Given the description of an element on the screen output the (x, y) to click on. 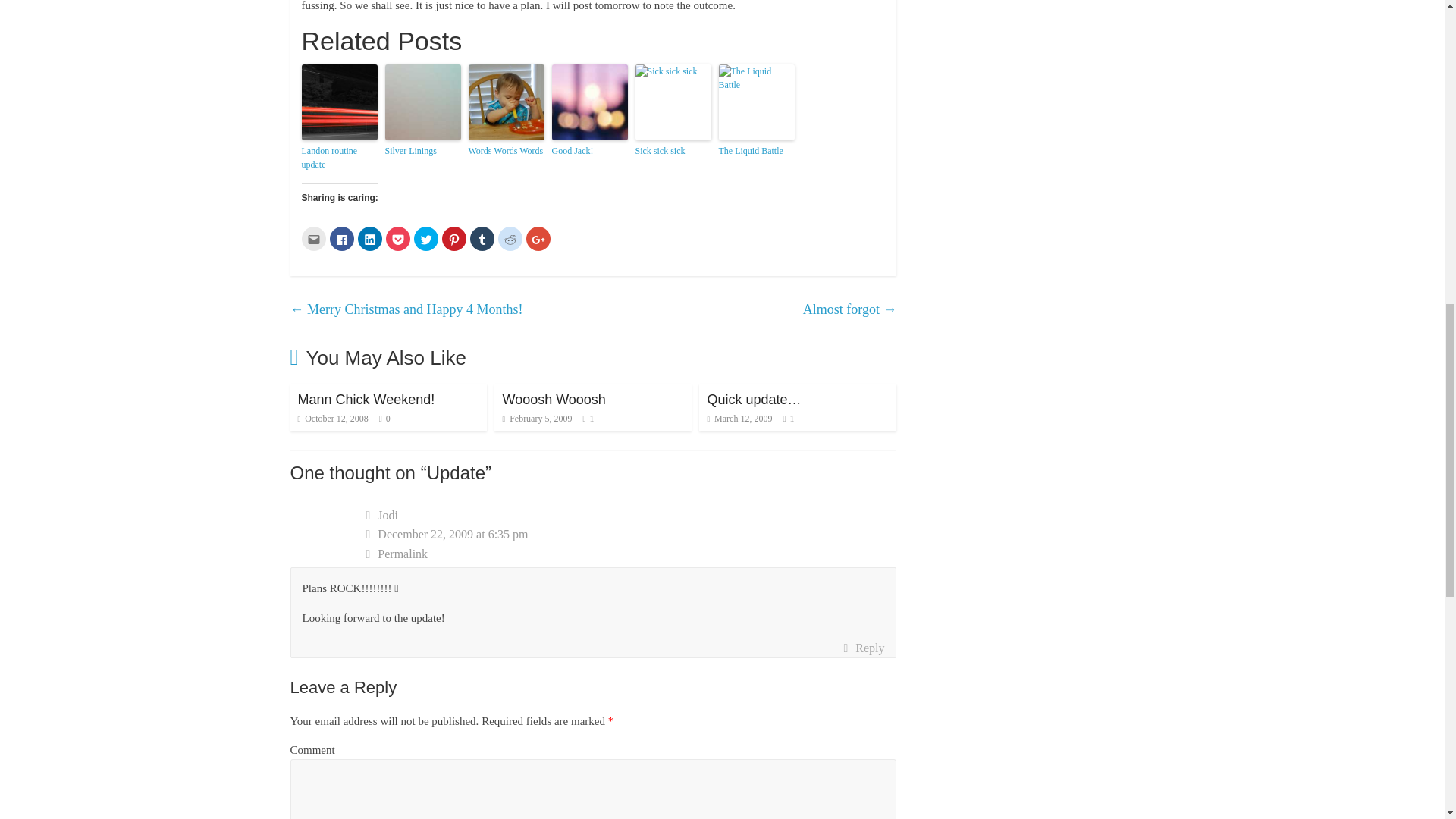
Click to email this to a friend (313, 238)
Words Words Words (506, 151)
Click to share on Pocket (397, 238)
Landon routine update (339, 157)
Good Jack! (589, 151)
Mann Chick Weekend! (365, 399)
11:36 am (332, 418)
Click to share on Reddit (509, 238)
Click to share on Facebook (341, 238)
Click to share on Pinterest (453, 238)
